Given the description of an element on the screen output the (x, y) to click on. 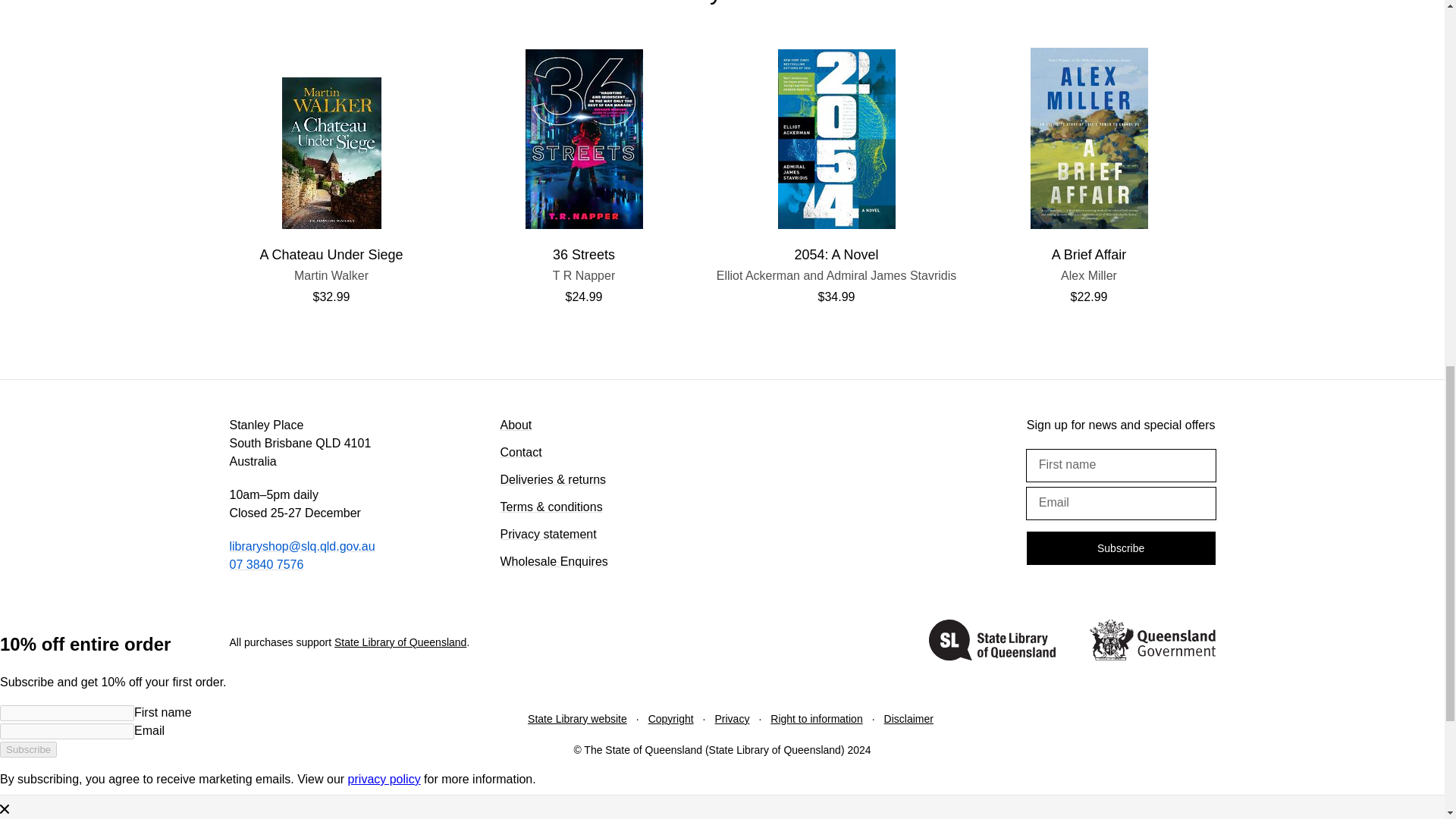
Go to Queensland Government homepage (1151, 642)
Go to Queensland State Library homepage (836, 275)
tel:07 3840 7576 (1088, 275)
